Given the description of an element on the screen output the (x, y) to click on. 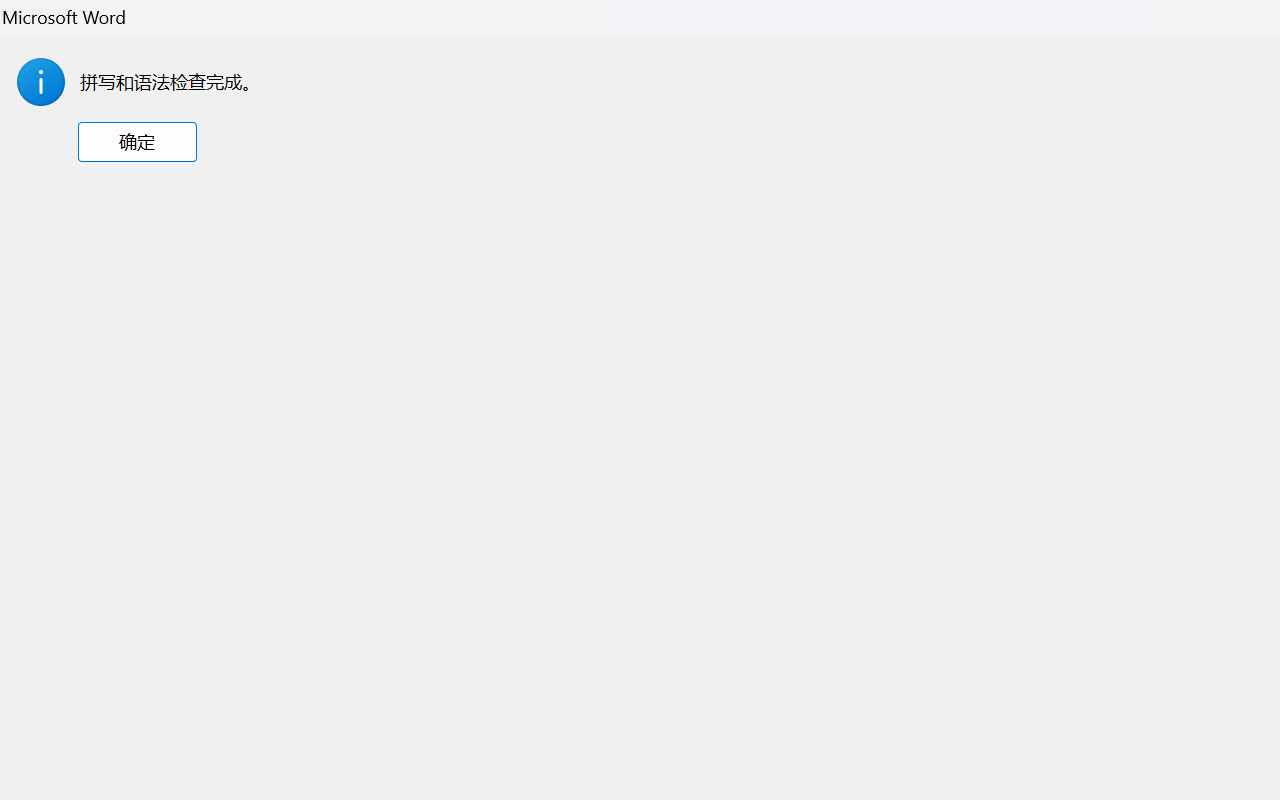
Class: Static (40, 81)
